Given the description of an element on the screen output the (x, y) to click on. 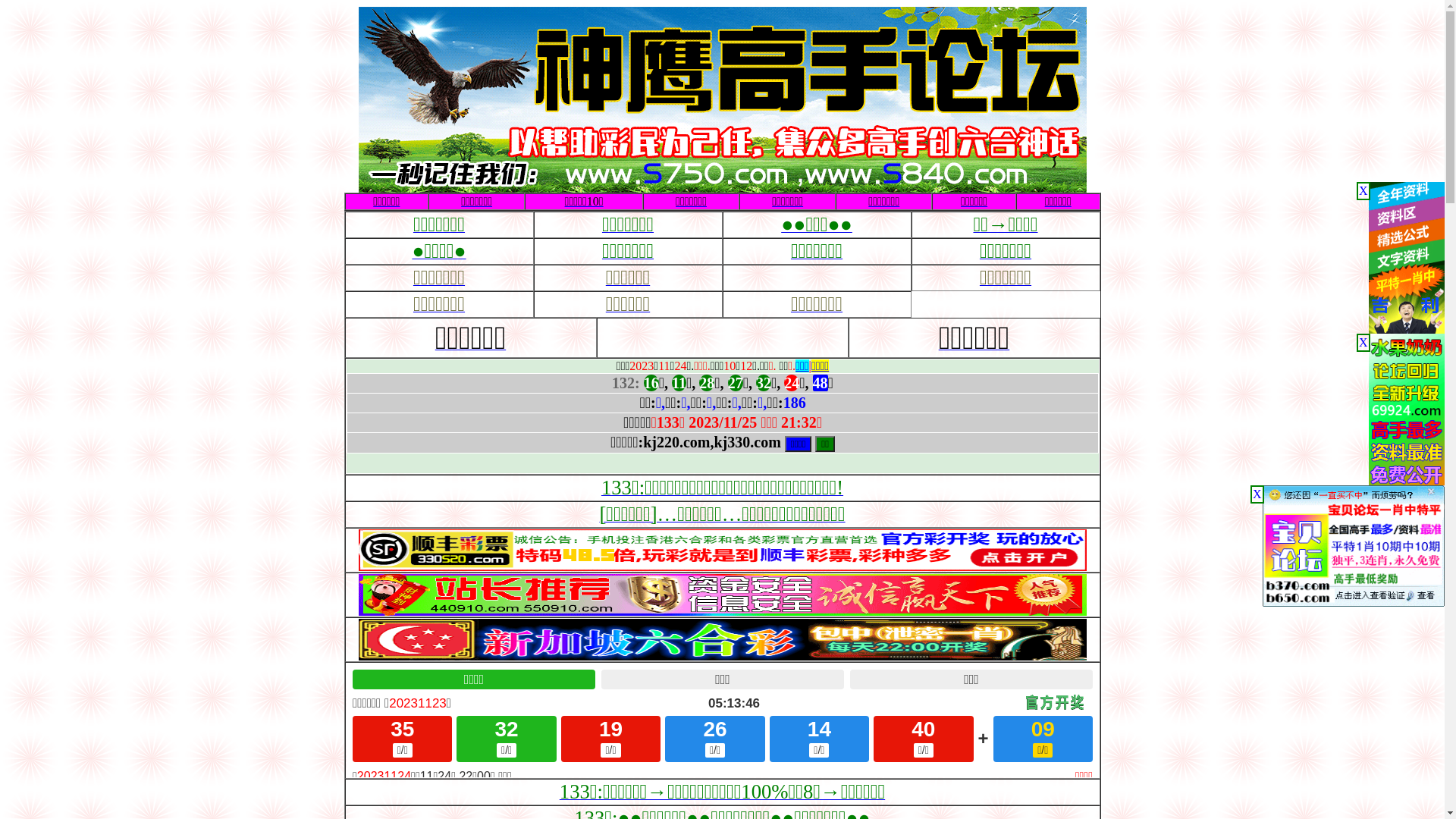
X Element type: text (1257, 494)
00.00 Element type: hover (721, 611)
X Element type: text (1363, 342)
X Element type: text (1363, 191)
00.00 Element type: hover (721, 566)
